Given the description of an element on the screen output the (x, y) to click on. 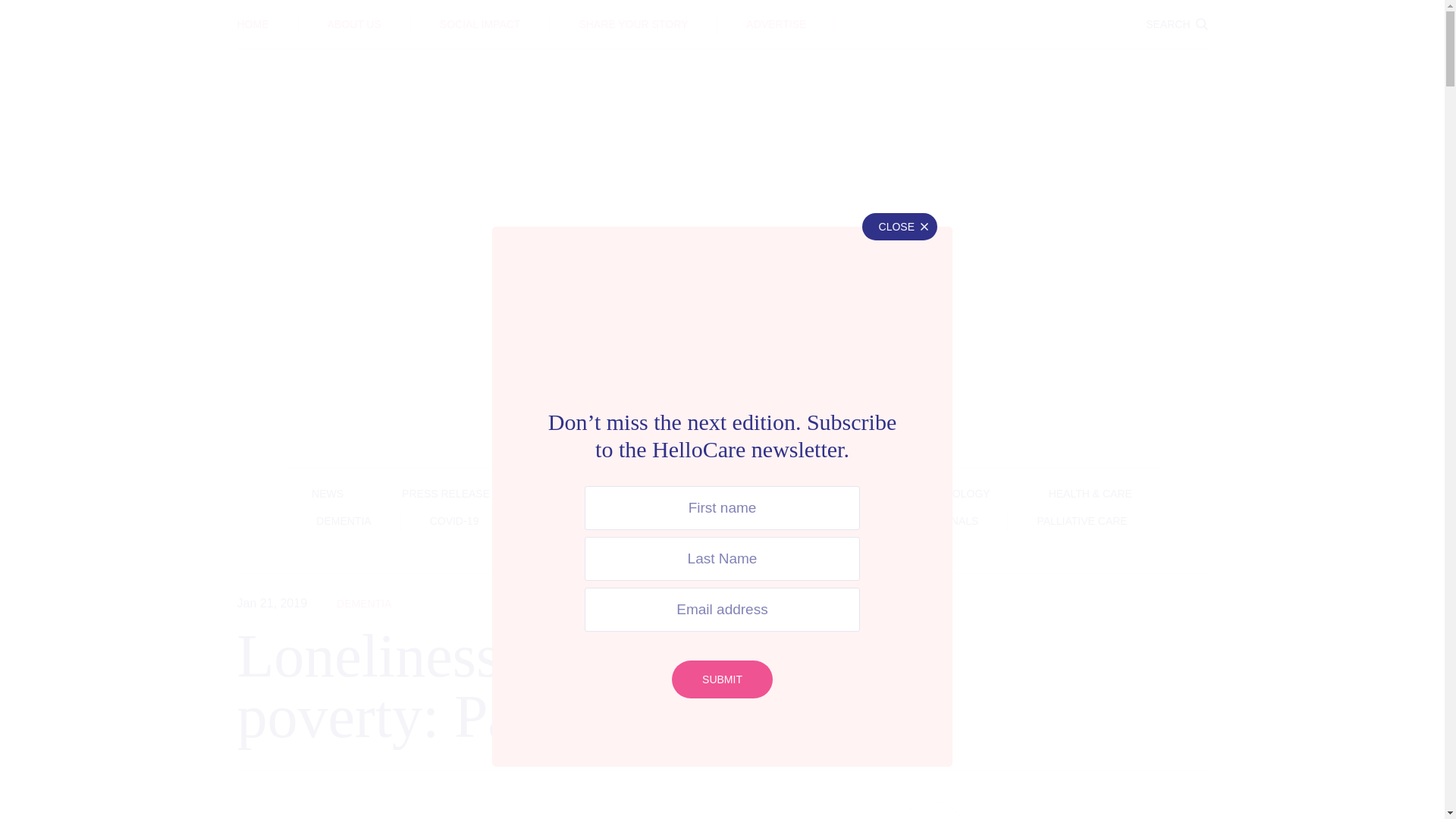
SHARE YOUR STORY (632, 24)
Submit (722, 679)
EDUCATION (721, 13)
SEARCH (1176, 24)
ADVERTISE (775, 24)
HOME (251, 24)
ABOUT US (354, 24)
SOCIAL IMPACT (480, 24)
